Given the description of an element on the screen output the (x, y) to click on. 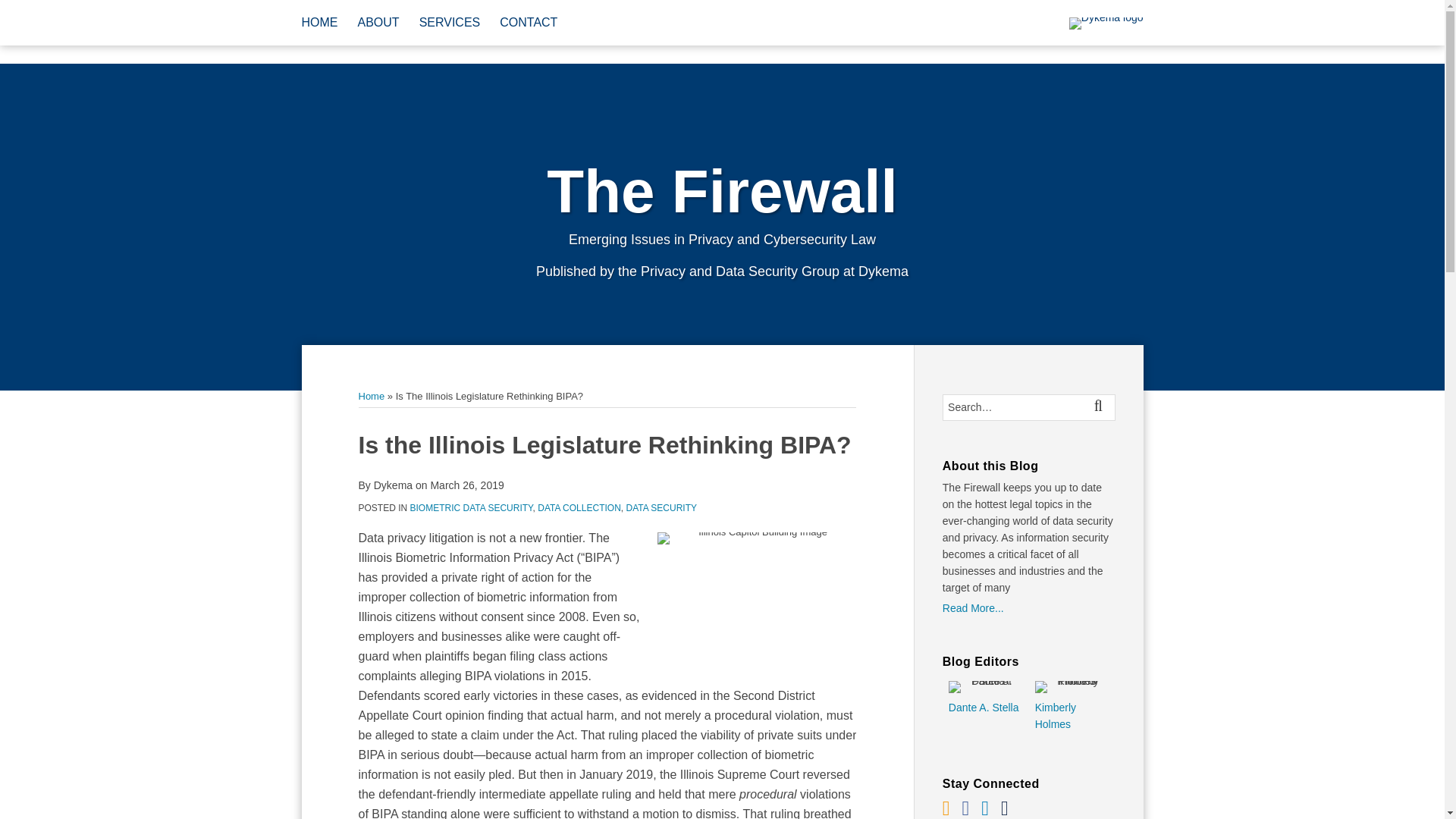
SERVICES (449, 22)
SEARCH (1101, 407)
The Firewall (721, 191)
DATA COLLECTION (579, 507)
Kimberly Holmes (1072, 715)
Privacy and Data Security Group at Dykema (774, 271)
ABOUT (378, 22)
DATA SECURITY (661, 507)
Dante A. Stella (986, 707)
Home (371, 396)
BIOMETRIC DATA SECURITY (471, 507)
CONTACT (528, 22)
Read More... (1028, 607)
HOME (319, 22)
